Given the description of an element on the screen output the (x, y) to click on. 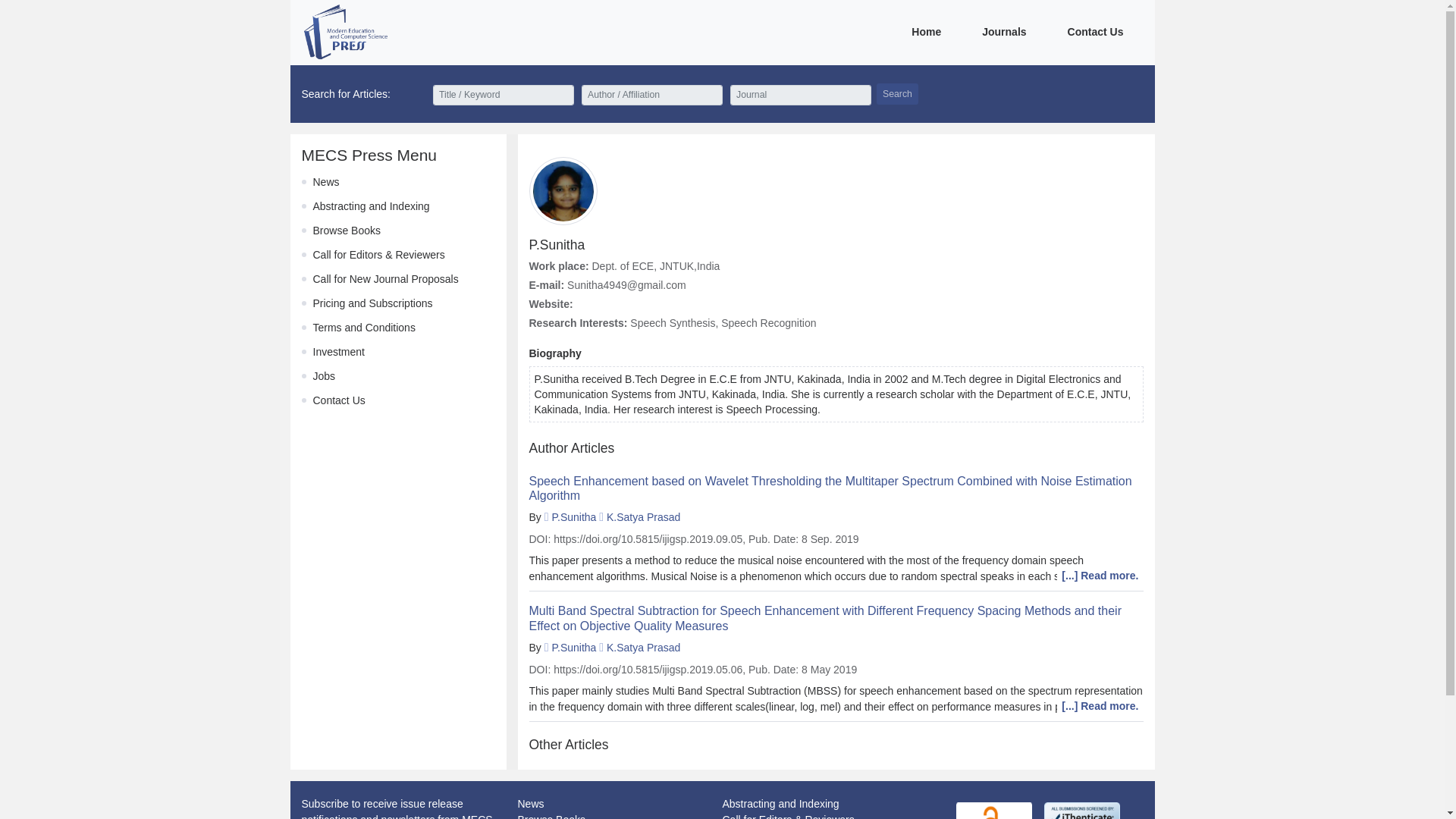
News (529, 803)
Call for New Journal Proposals (385, 278)
Browse Books (550, 816)
News (326, 182)
Contact Us (339, 399)
Terms and Conditions (363, 327)
P.Sunitha (573, 647)
Search (897, 93)
Investment (338, 351)
